Given the description of an element on the screen output the (x, y) to click on. 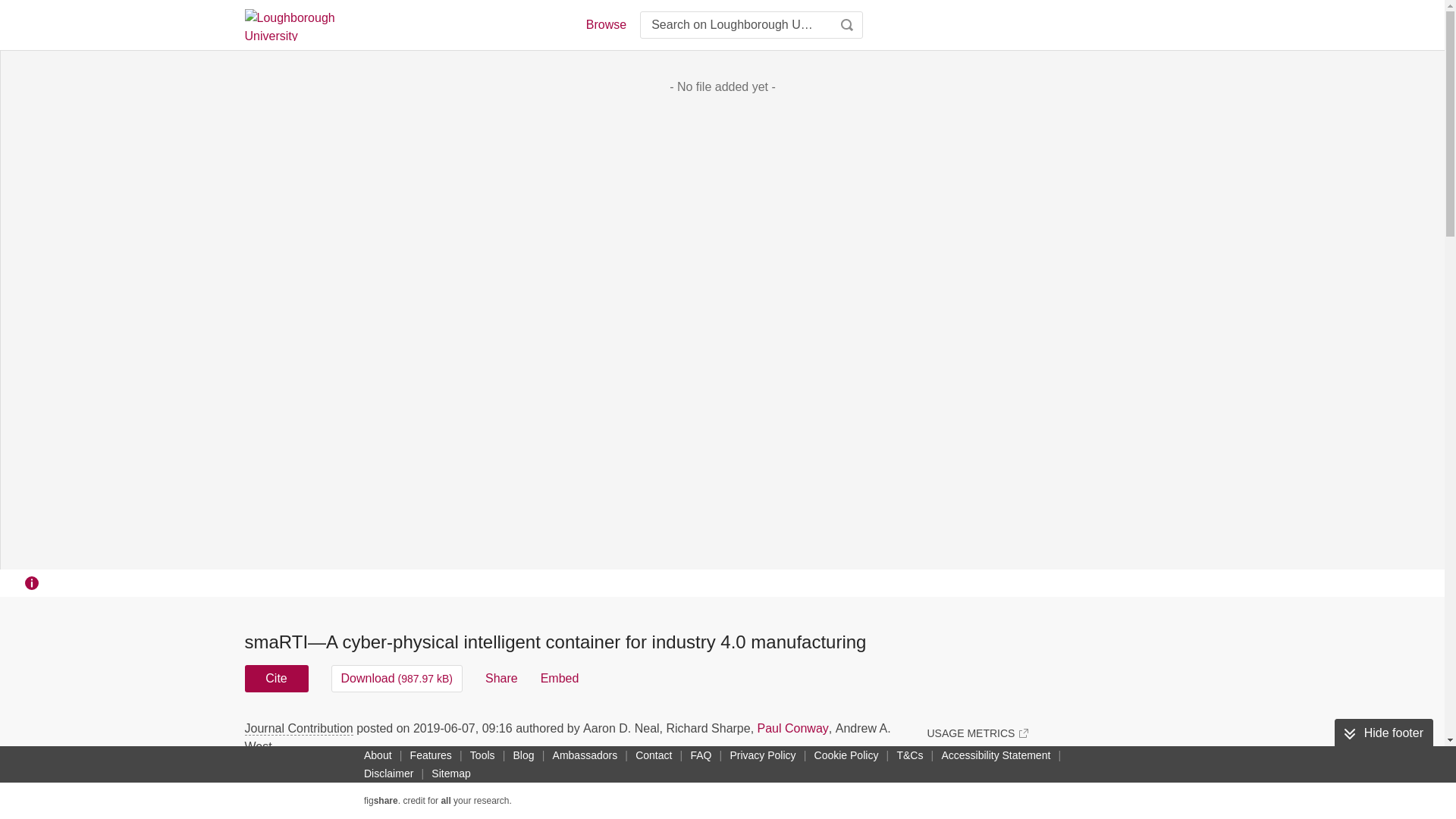
Hide footer (1383, 733)
Browse (605, 24)
Paul Conway (792, 727)
Ambassadors (585, 755)
Blog (523, 755)
Privacy Policy (762, 755)
Features (431, 755)
Share (501, 678)
Embed (559, 678)
Tools (482, 755)
